Given the description of an element on the screen output the (x, y) to click on. 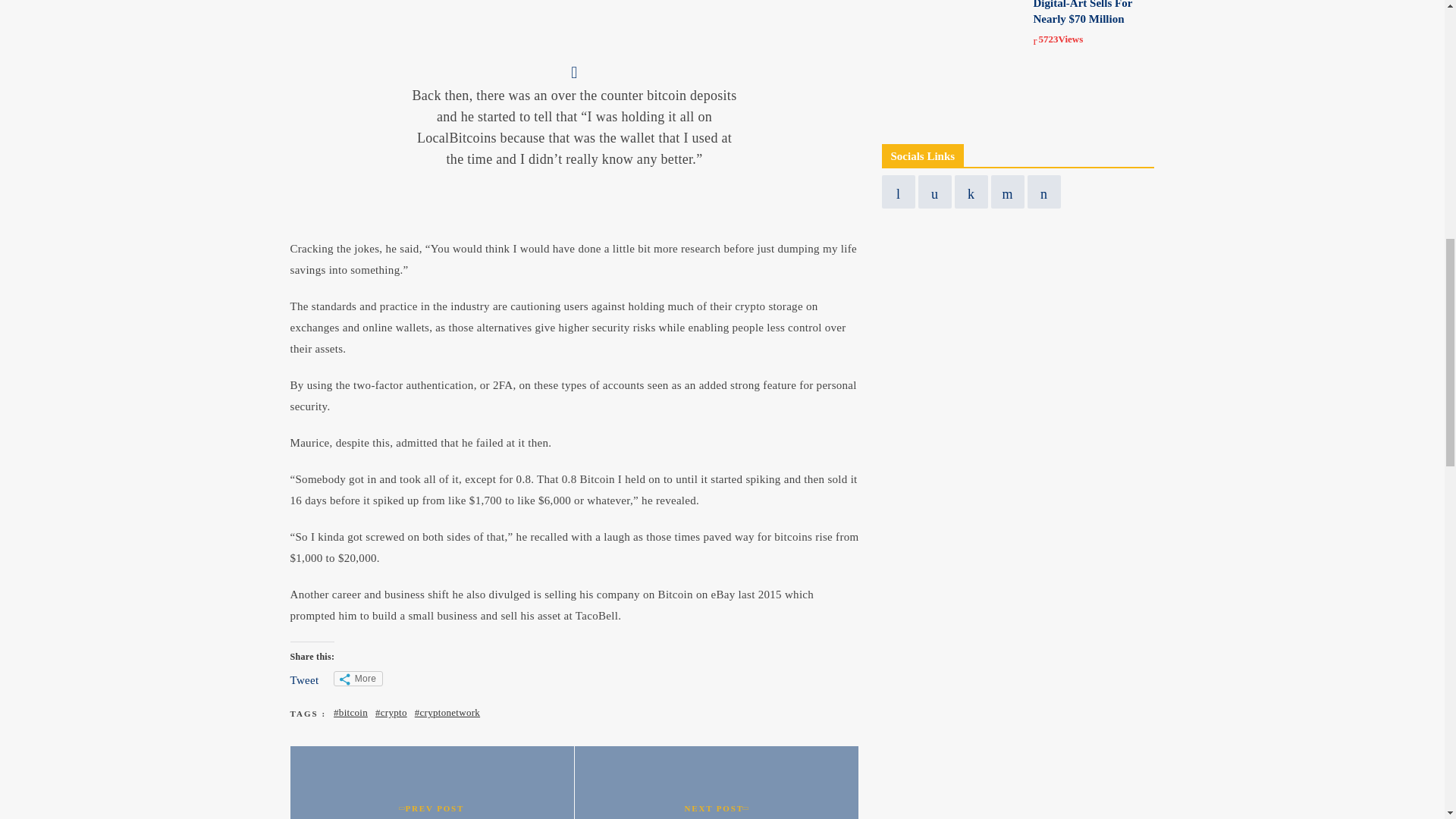
Instagram (933, 191)
More (357, 678)
Tweet (303, 680)
Twitter (1006, 191)
Facebook (897, 191)
Pinterest (970, 191)
Youtube (1042, 191)
